Given the description of an element on the screen output the (x, y) to click on. 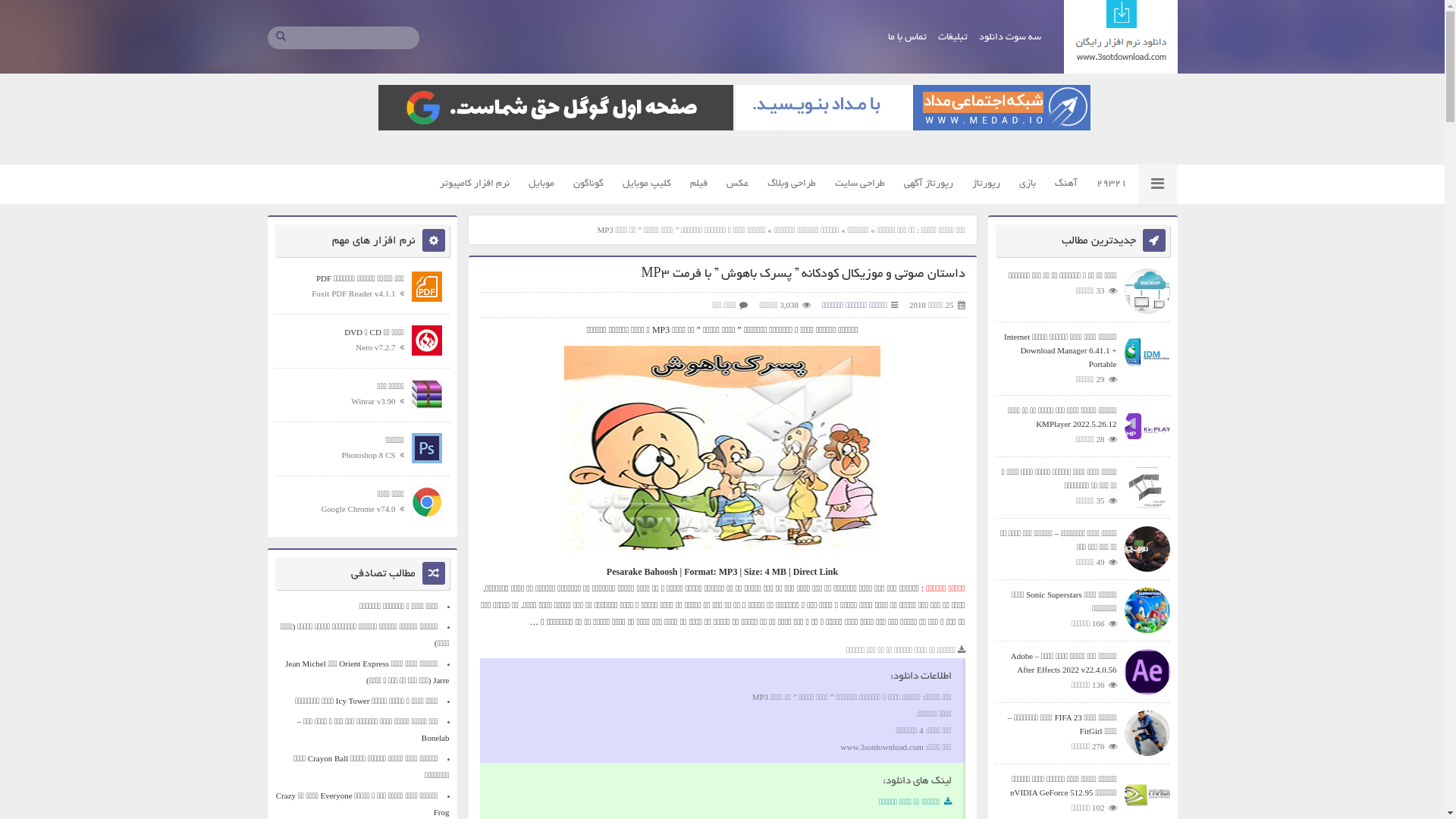
29321 Element type: text (1111, 183)
